Given the description of an element on the screen output the (x, y) to click on. 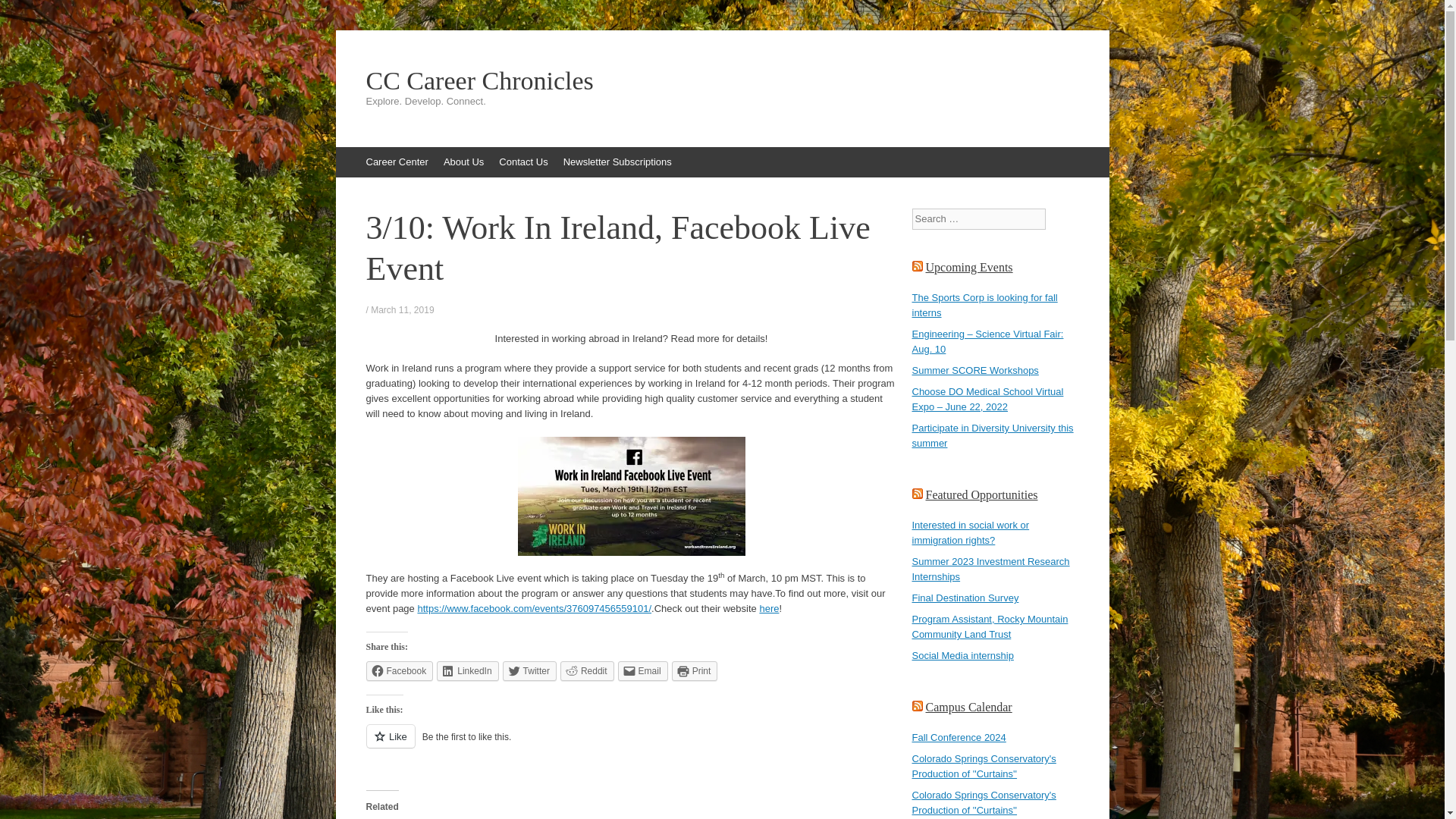
here (768, 608)
Contact Us (523, 162)
CC Career Chronicles (721, 80)
Skip to content (342, 154)
Click to share on Reddit (587, 670)
Career Center (396, 162)
Click to share on Twitter (529, 670)
LinkedIn (466, 670)
Click to share on LinkedIn (466, 670)
Search (23, 15)
Print (694, 670)
Email (642, 670)
Want to share a message with us? (523, 162)
Click to email this to a friend (642, 670)
CC Career Chronicles (721, 80)
